Given the description of an element on the screen output the (x, y) to click on. 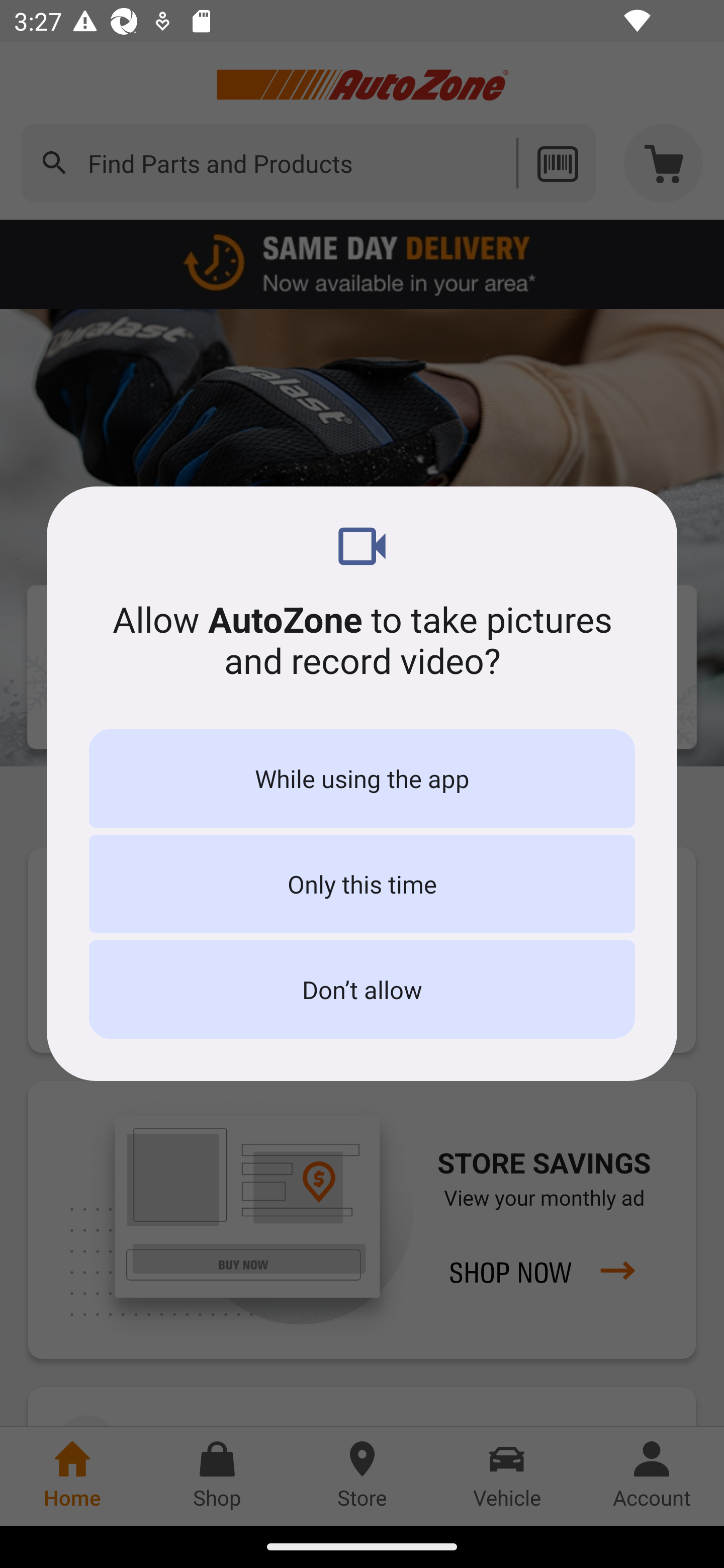
While using the app (361, 778)
Only this time (361, 883)
Don’t allow (361, 989)
